Given the description of an element on the screen output the (x, y) to click on. 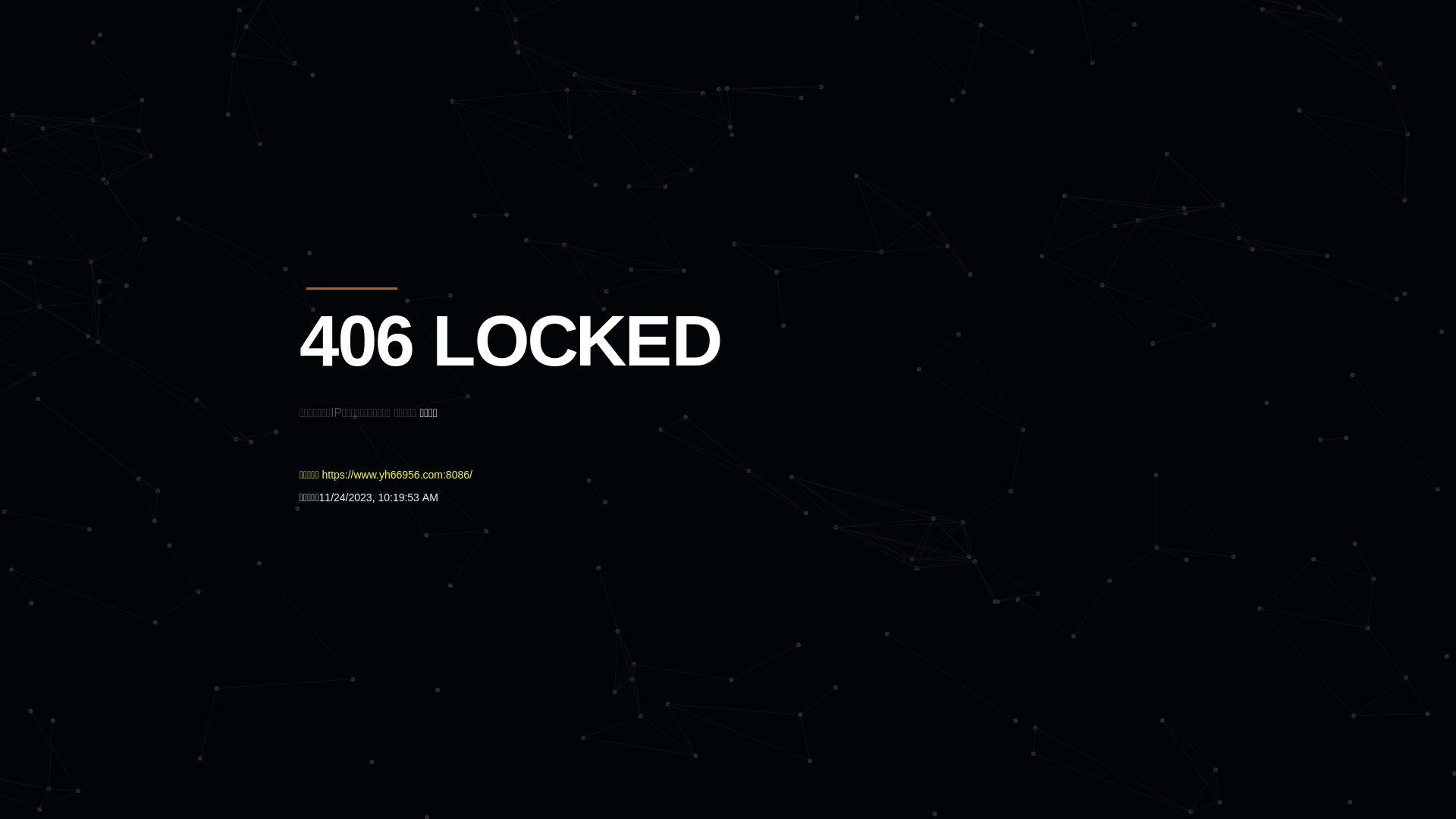
Quatro Element type: text (410, 86)
